Given the description of an element on the screen output the (x, y) to click on. 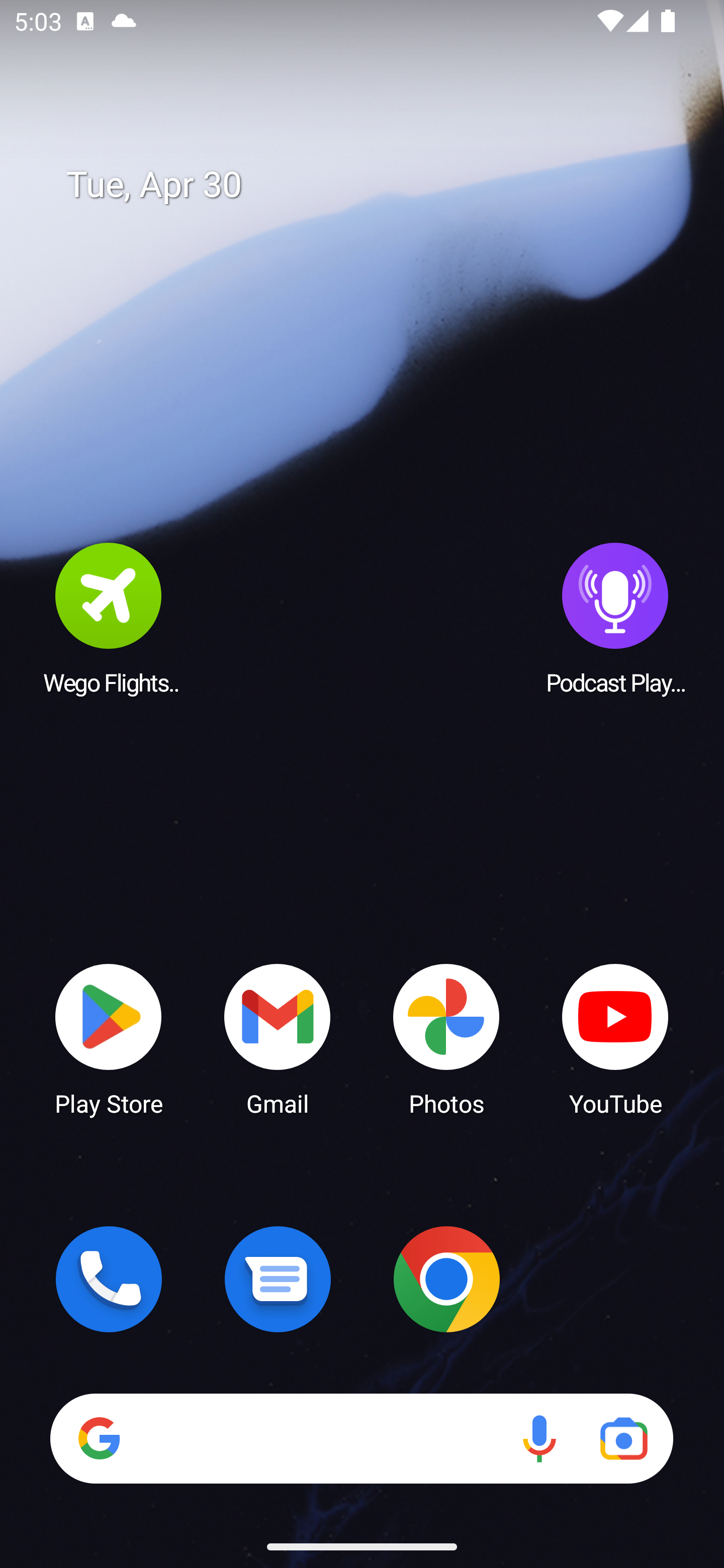
Tue, Apr 30 (375, 184)
Wego Flights & Hotels (108, 617)
Podcast Player (615, 617)
Play Store (108, 1038)
Gmail (277, 1038)
Photos (445, 1038)
YouTube (615, 1038)
Phone (108, 1279)
Messages (277, 1279)
Chrome (446, 1279)
Voice search (539, 1438)
Google Lens (623, 1438)
